Given the description of an element on the screen output the (x, y) to click on. 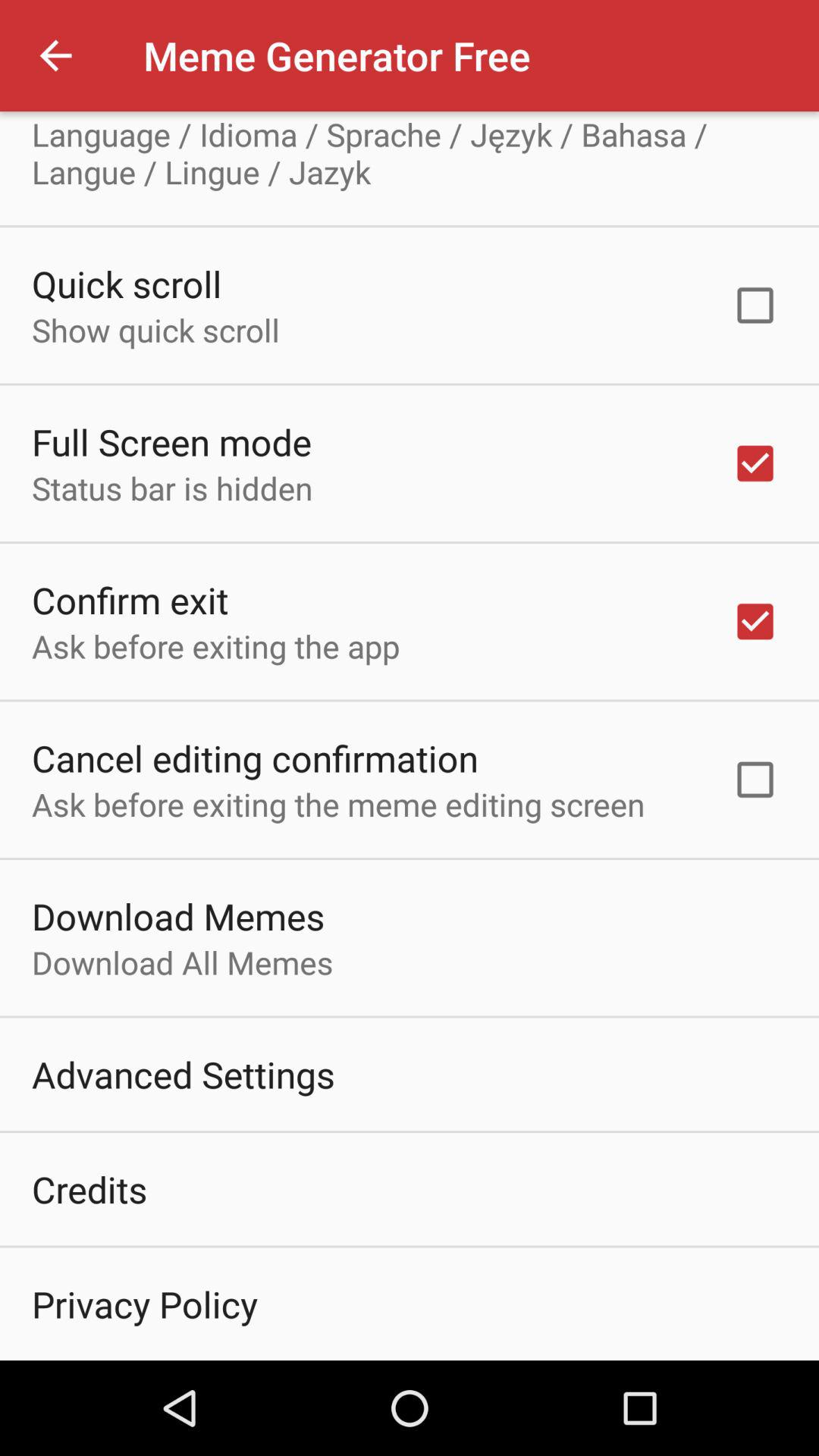
launch the icon above select language icon (55, 55)
